Given the description of an element on the screen output the (x, y) to click on. 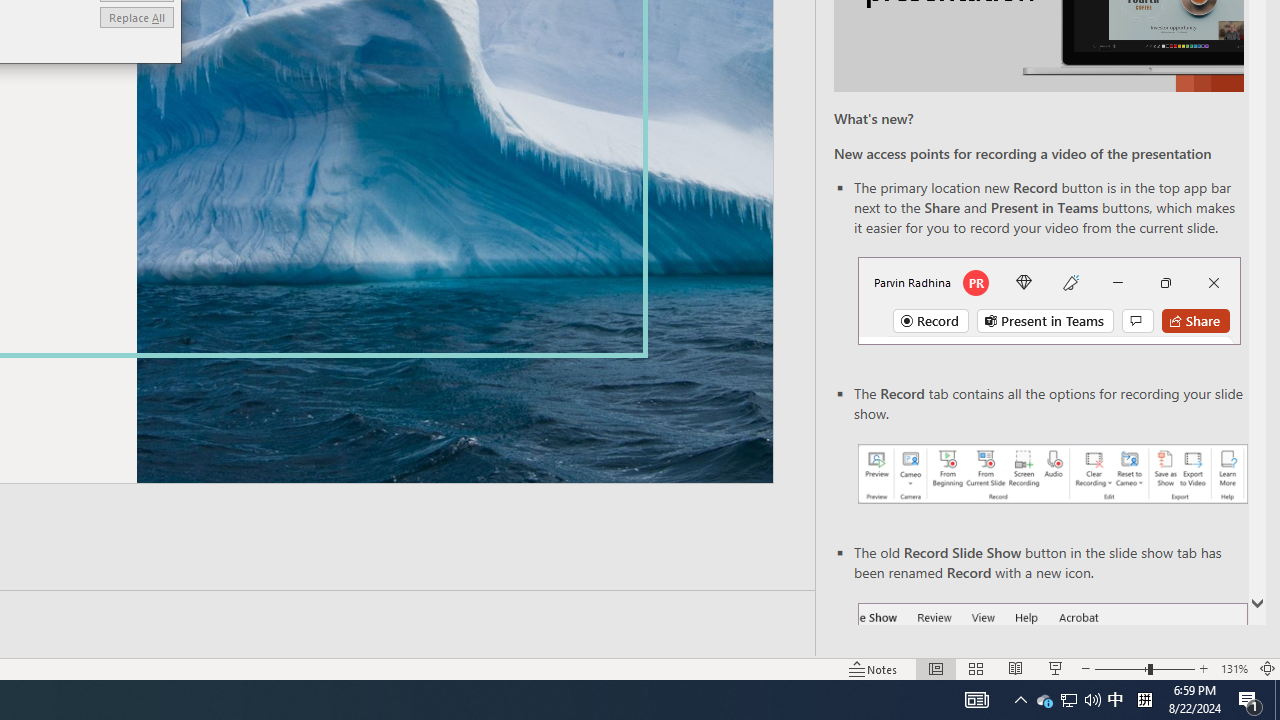
Replace All (136, 16)
Record your presentations screenshot one (1052, 473)
Zoom 131% (1115, 699)
